Given the description of an element on the screen output the (x, y) to click on. 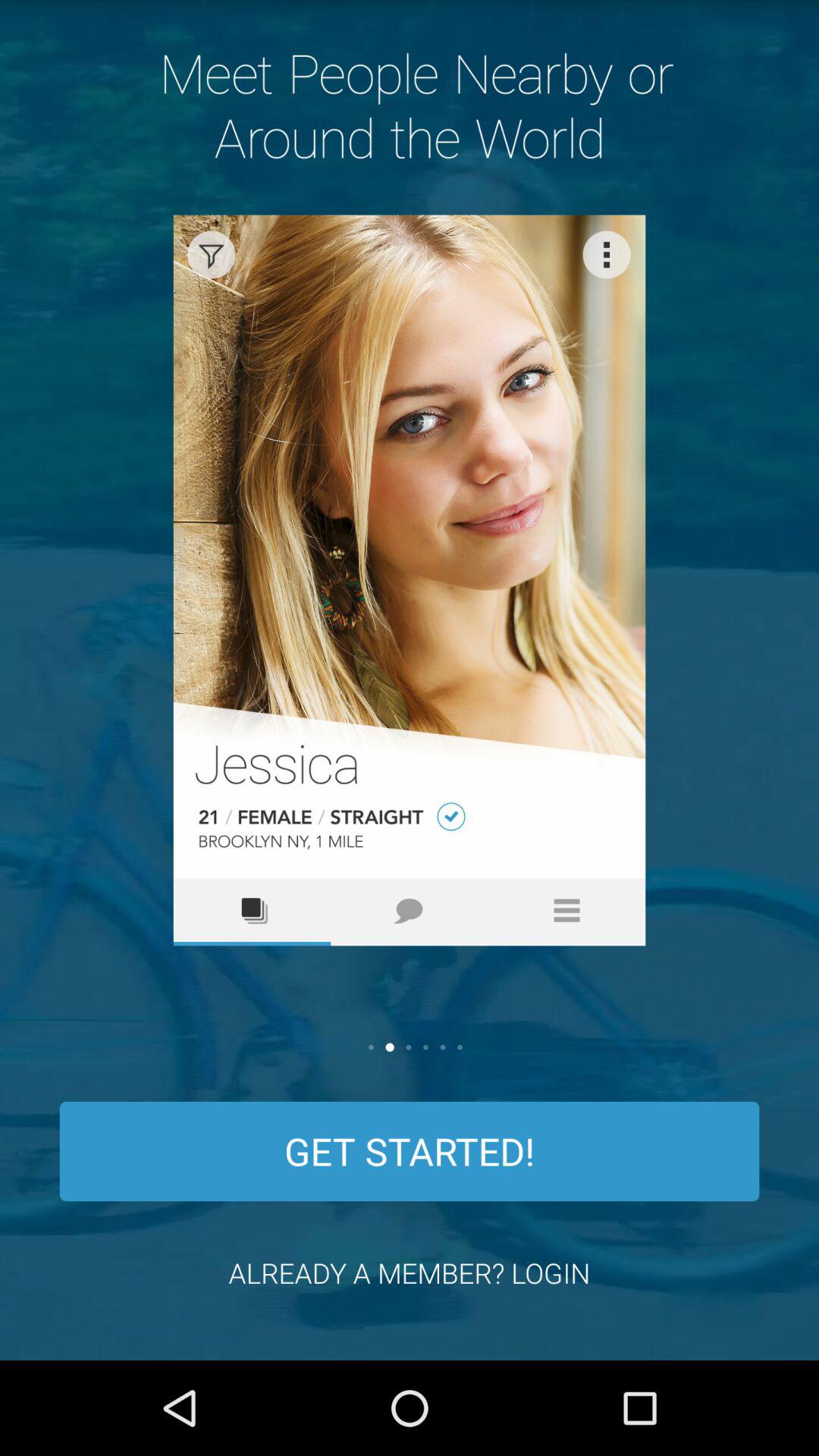
turn off item below get started! item (409, 1272)
